Given the description of an element on the screen output the (x, y) to click on. 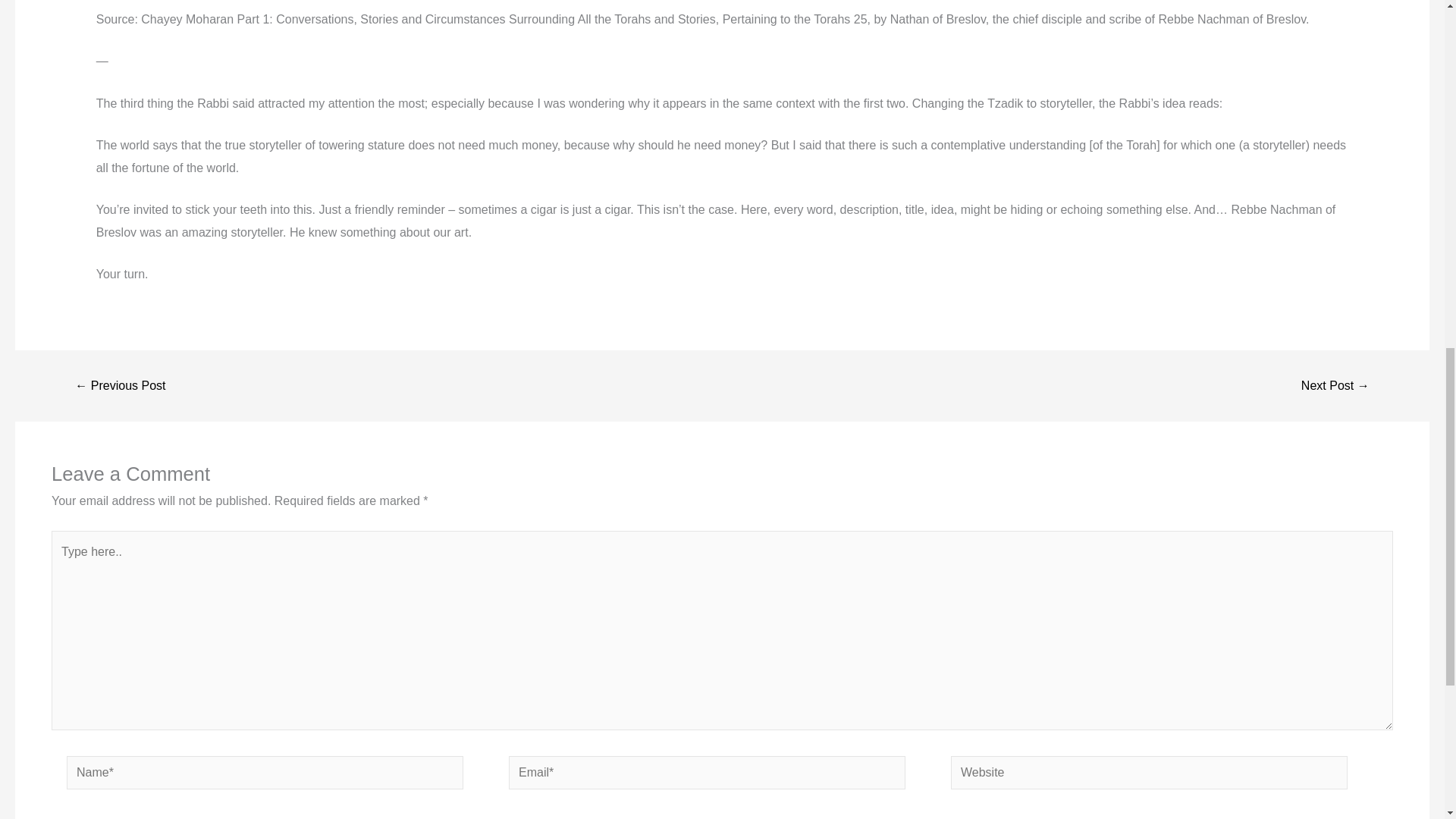
We won't have to talk. Jolly good? (119, 386)
Recalculating Route (1334, 386)
